Given the description of an element on the screen output the (x, y) to click on. 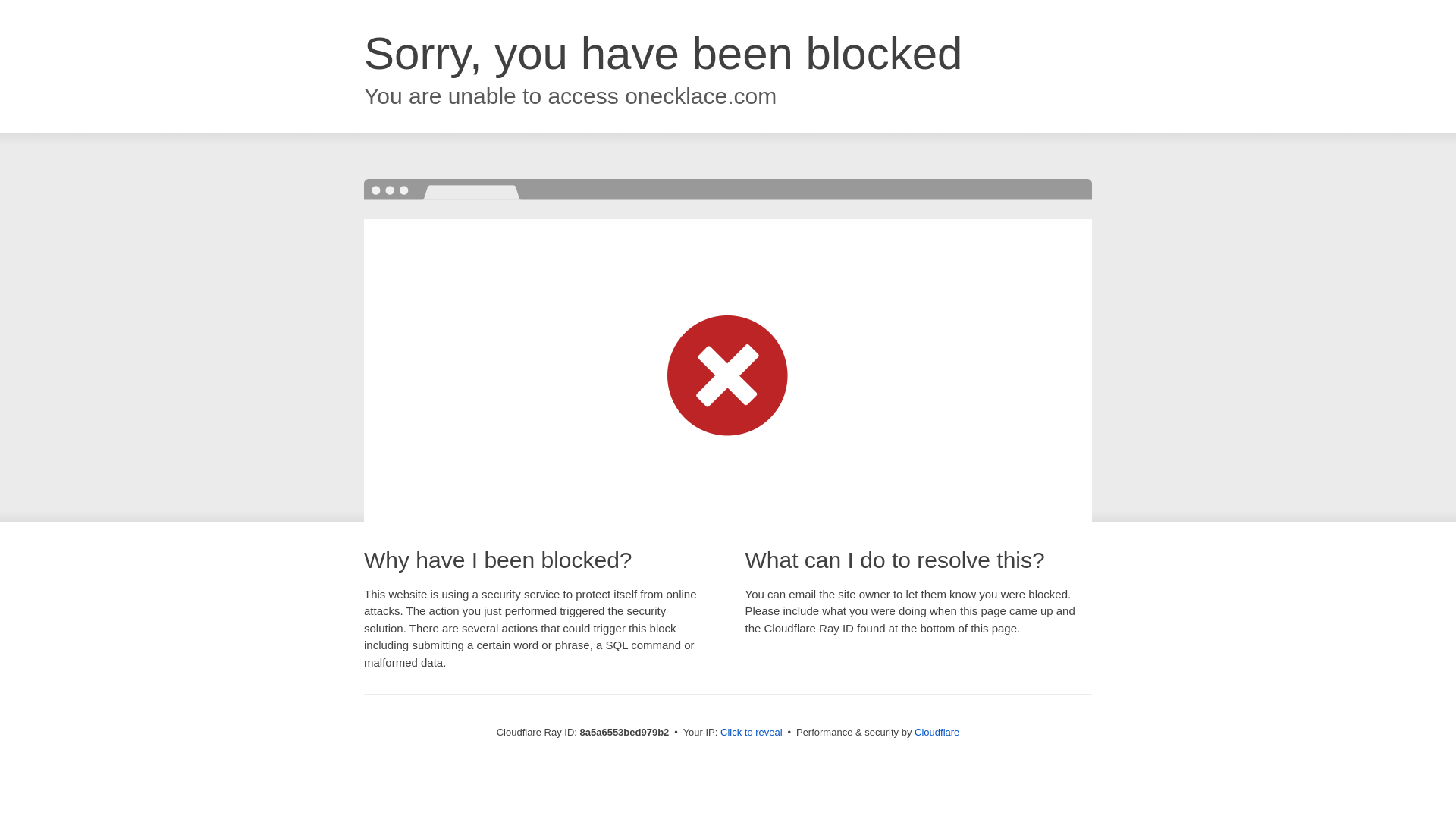
Click to reveal (751, 732)
Cloudflare (936, 731)
